Given the description of an element on the screen output the (x, y) to click on. 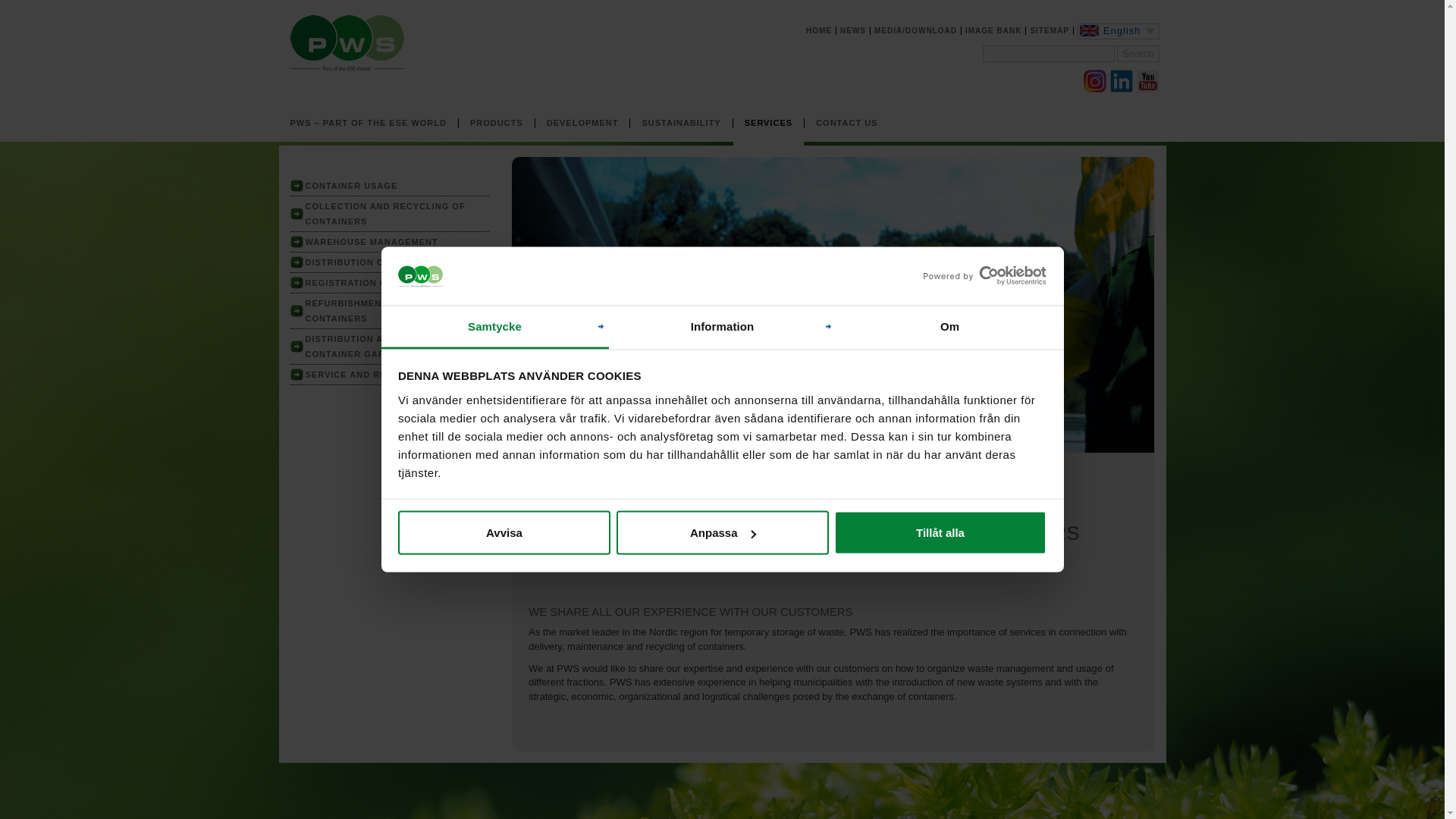
Search (1137, 54)
Information (721, 326)
Om (948, 326)
Anpassa (721, 533)
Samtycke (494, 326)
Avvisa (503, 533)
Search (1137, 54)
